Given the description of an element on the screen output the (x, y) to click on. 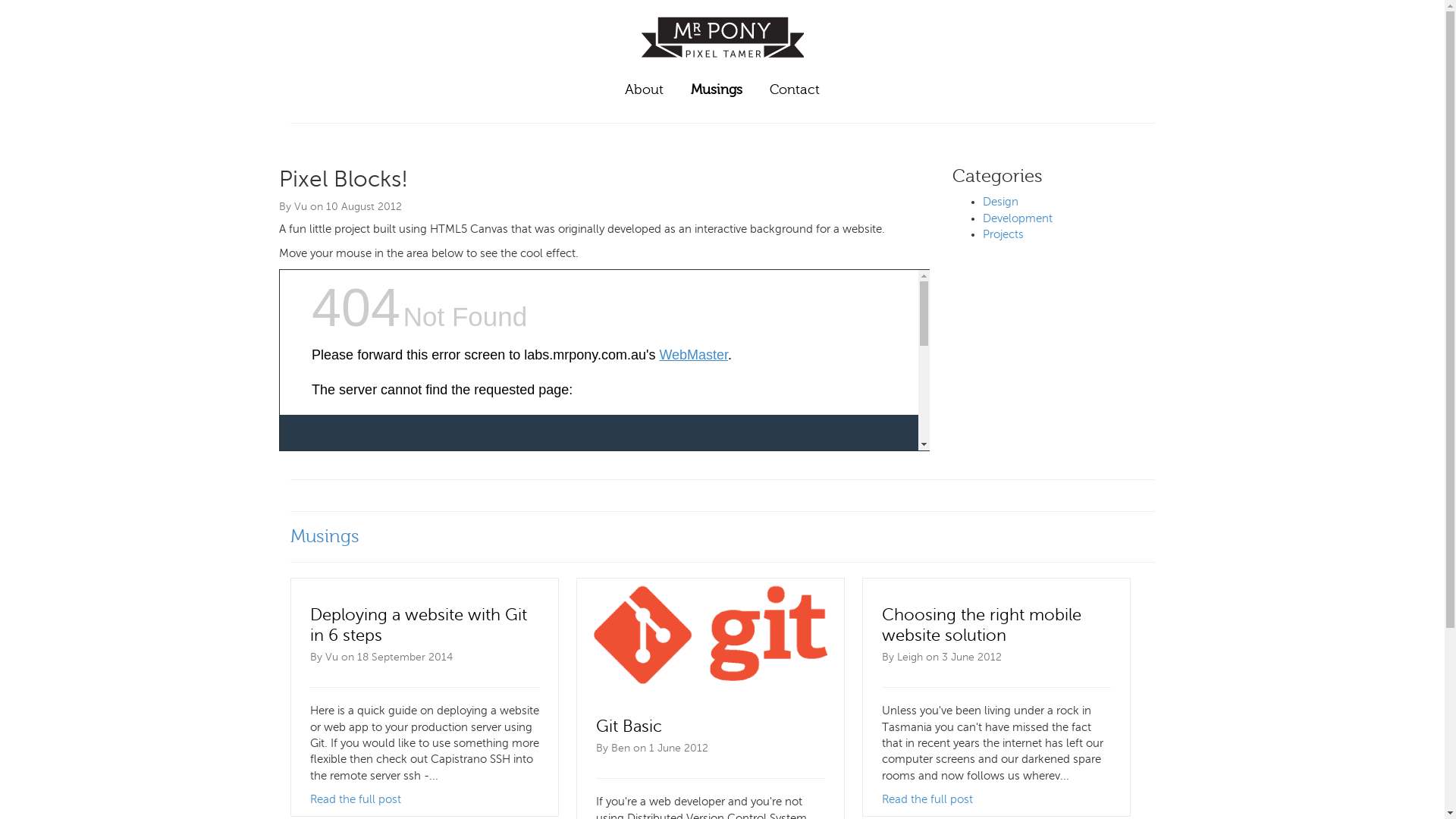
Projects Element type: text (1002, 234)
Git Basic Element type: text (629, 726)
Choosing the right mobile website solution Element type: text (980, 624)
Mr Pony Element type: text (722, 64)
Read the full post Element type: text (926, 799)
Musings Element type: text (716, 89)
Design Element type: text (1000, 201)
Read the full post Element type: text (354, 799)
Contact Element type: text (794, 89)
Read Full Post Element type: hover (709, 634)
Development Element type: text (1017, 218)
About Element type: text (643, 89)
Deploying a website with Git in 6 steps Element type: text (417, 624)
Musings Element type: text (721, 536)
